Given the description of an element on the screen output the (x, y) to click on. 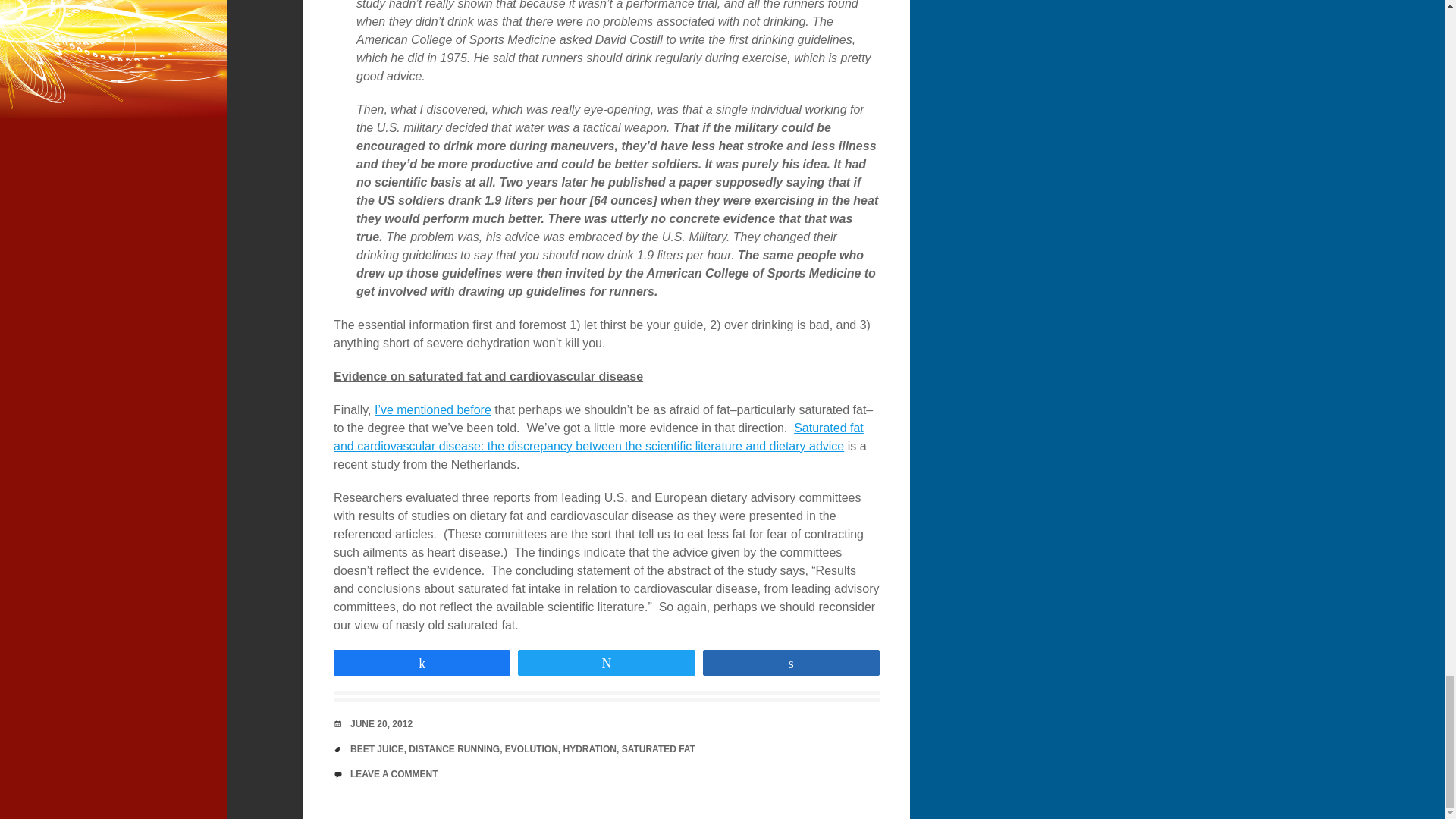
11:56 am (381, 724)
